Given the description of an element on the screen output the (x, y) to click on. 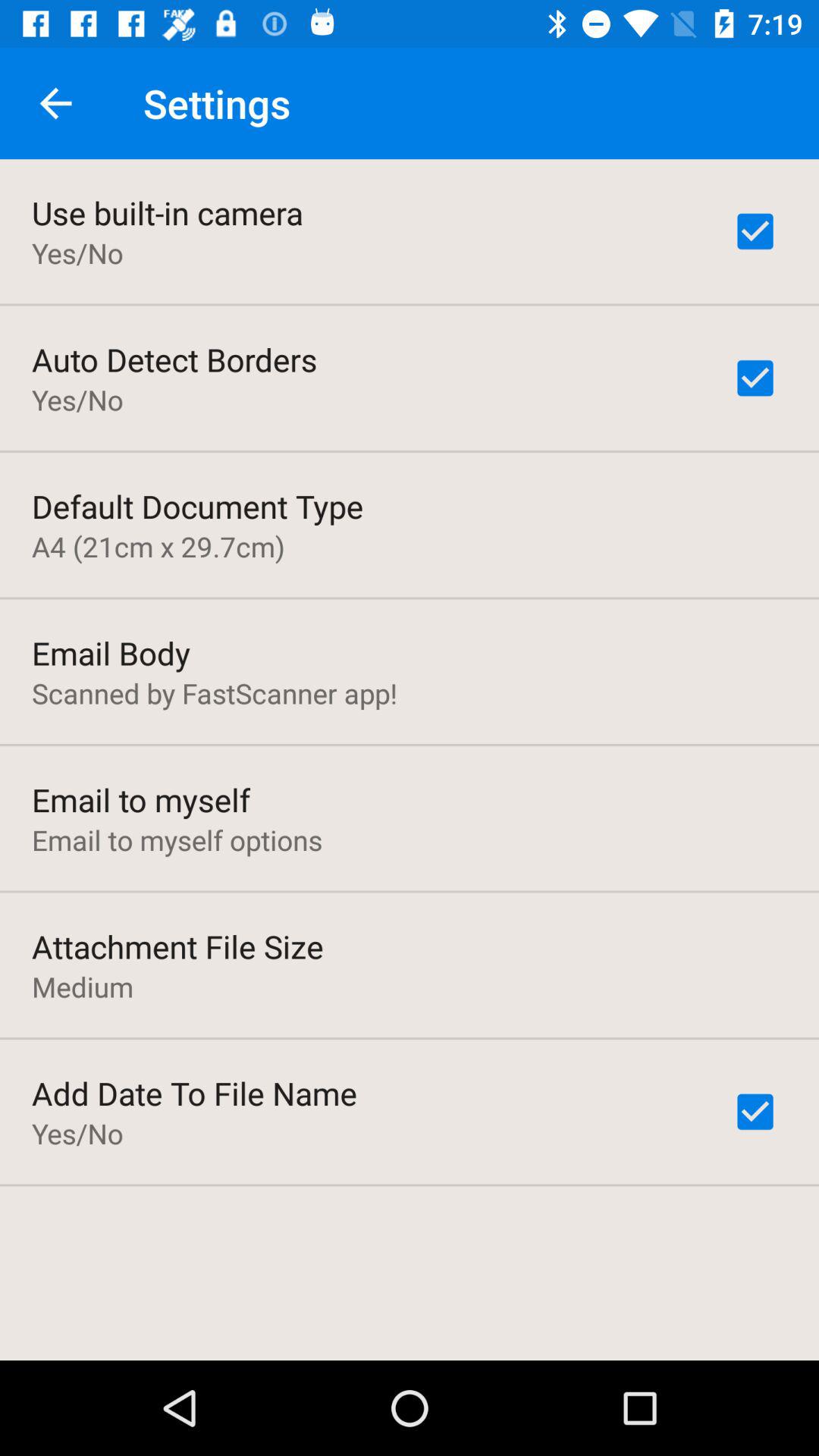
press the item below default document type item (157, 546)
